Given the description of an element on the screen output the (x, y) to click on. 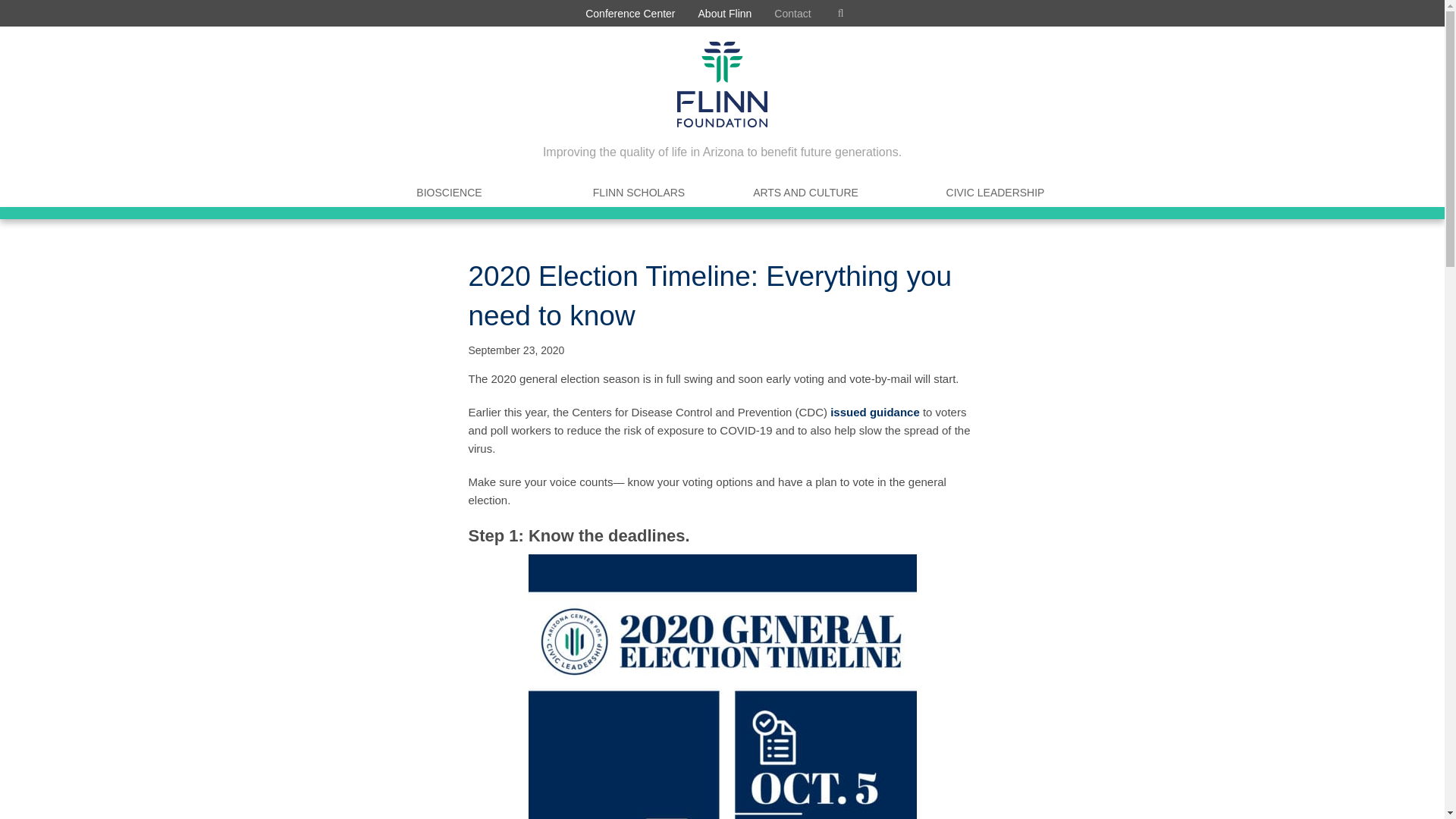
Contact (792, 13)
About Flinn (724, 13)
Conference Center (629, 13)
BIOSCIENCE (448, 192)
